Given the description of an element on the screen output the (x, y) to click on. 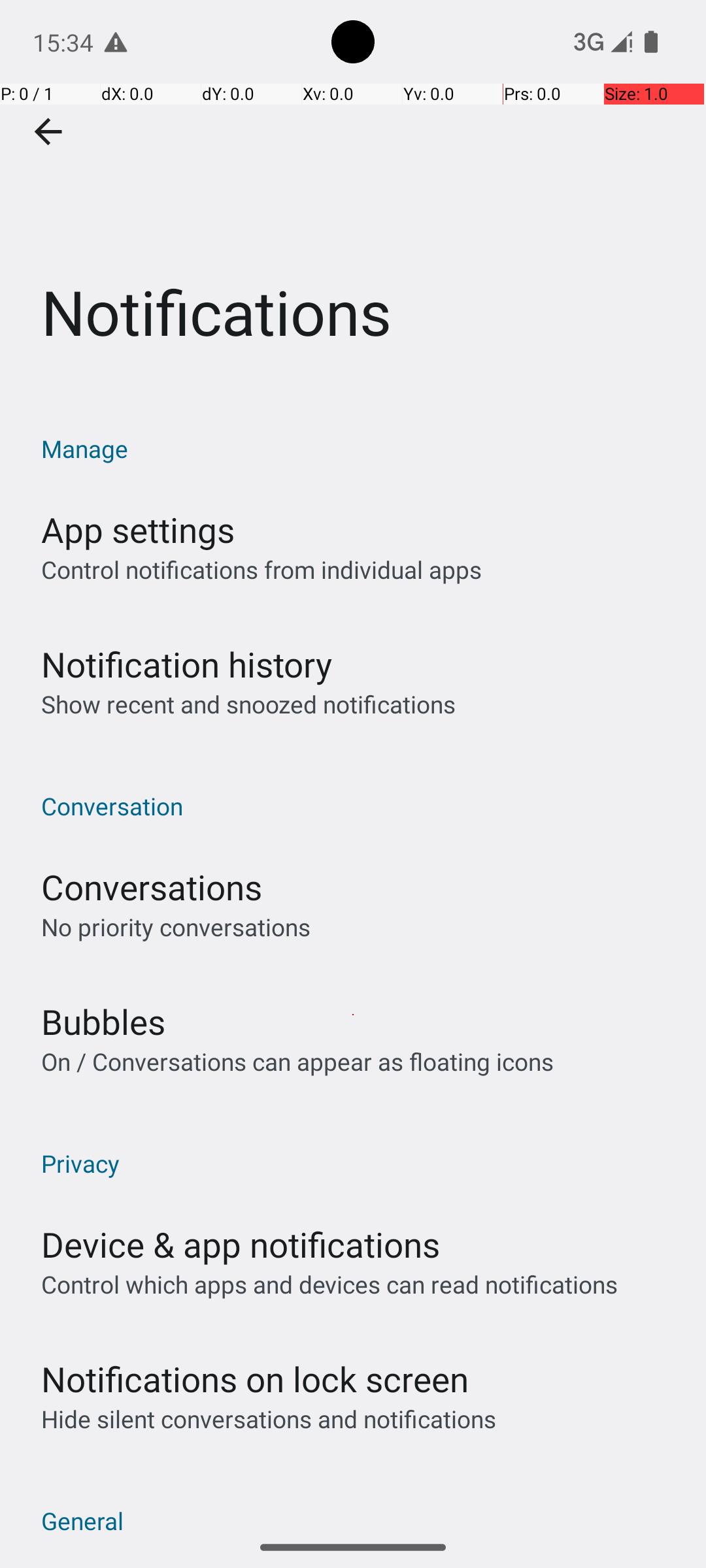
Manage Element type: android.widget.TextView (359, 448)
App settings Element type: android.widget.TextView (137, 529)
Control notifications from individual apps Element type: android.widget.TextView (261, 569)
Notification history Element type: android.widget.TextView (186, 663)
Show recent and snoozed notifications Element type: android.widget.TextView (248, 703)
Conversation Element type: android.widget.TextView (359, 805)
Conversations Element type: android.widget.TextView (151, 886)
No priority conversations Element type: android.widget.TextView (175, 926)
Bubbles Element type: android.widget.TextView (103, 1021)
On / Conversations can appear as floating icons Element type: android.widget.TextView (297, 1061)
Privacy Element type: android.widget.TextView (359, 1162)
Device & app notifications Element type: android.widget.TextView (240, 1244)
Control which apps and devices can read notifications Element type: android.widget.TextView (329, 1283)
Notifications on lock screen Element type: android.widget.TextView (254, 1378)
Hide silent conversations and notifications Element type: android.widget.TextView (268, 1418)
